Given the description of an element on the screen output the (x, y) to click on. 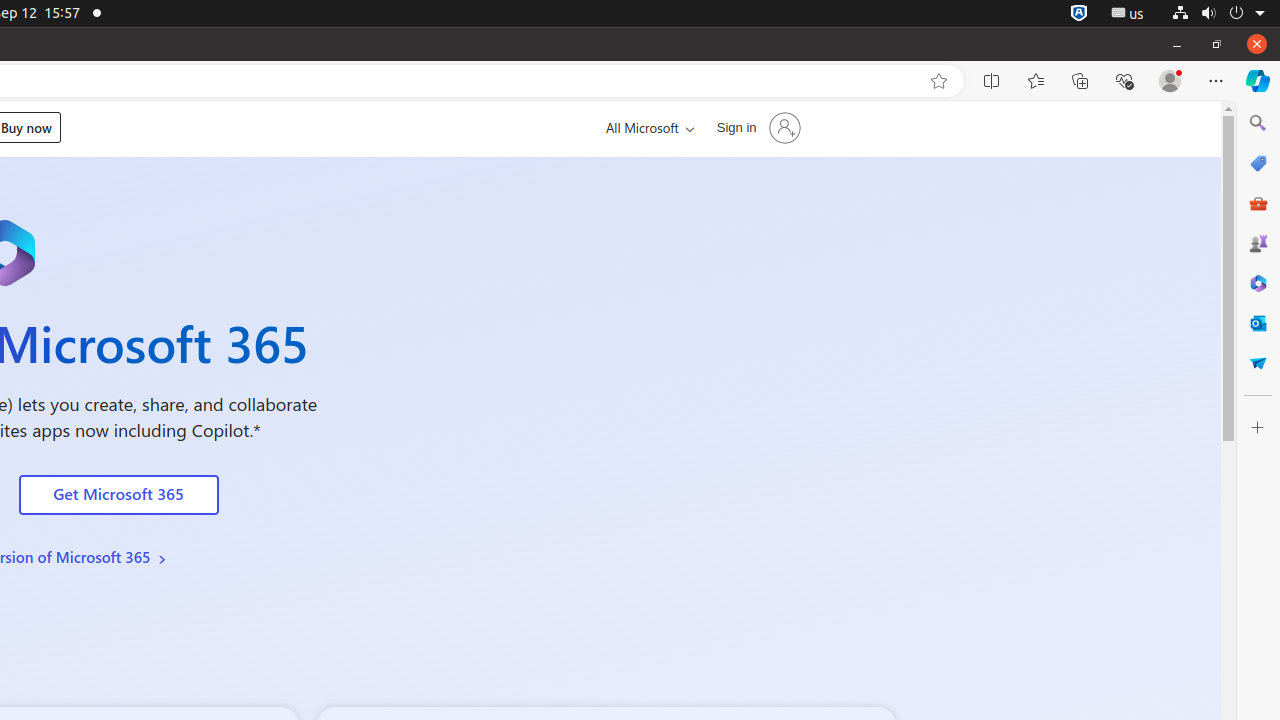
Customize Element type: push-button (1258, 428)
Search Element type: push-button (1258, 123)
System Element type: menu (1218, 13)
:1.21/StatusNotifierItem Element type: menu (1127, 13)
Copilot (Ctrl+Shift+.) Element type: push-button (1258, 81)
